Given the description of an element on the screen output the (x, y) to click on. 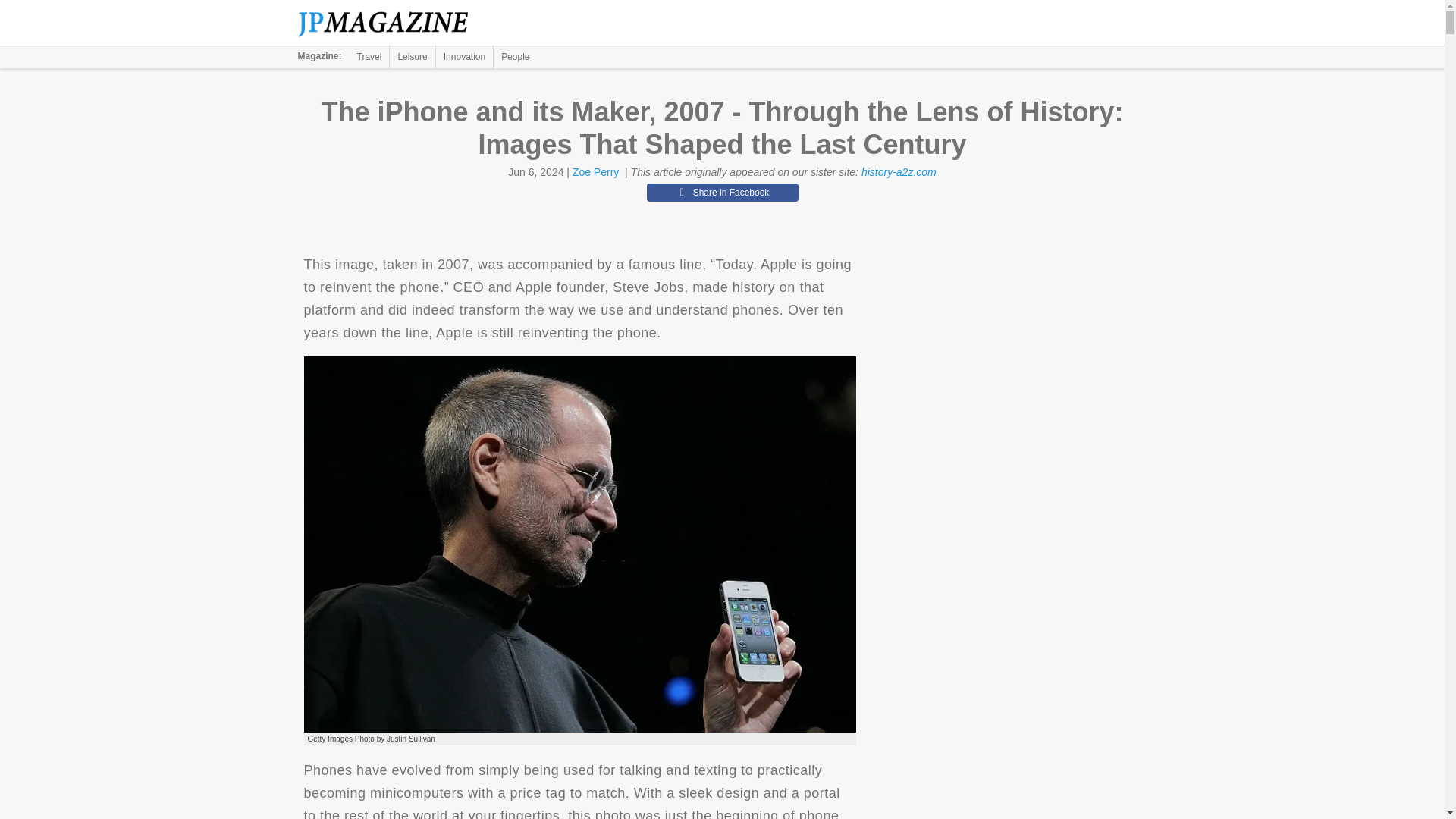
Travel (369, 56)
Zoe Perry (595, 172)
People (515, 56)
Innovation (464, 56)
Share in Facebook (721, 192)
history-a2z.com (898, 172)
Leisure (411, 56)
The Jerusalem Post Magazine (391, 22)
